Given the description of an element on the screen output the (x, y) to click on. 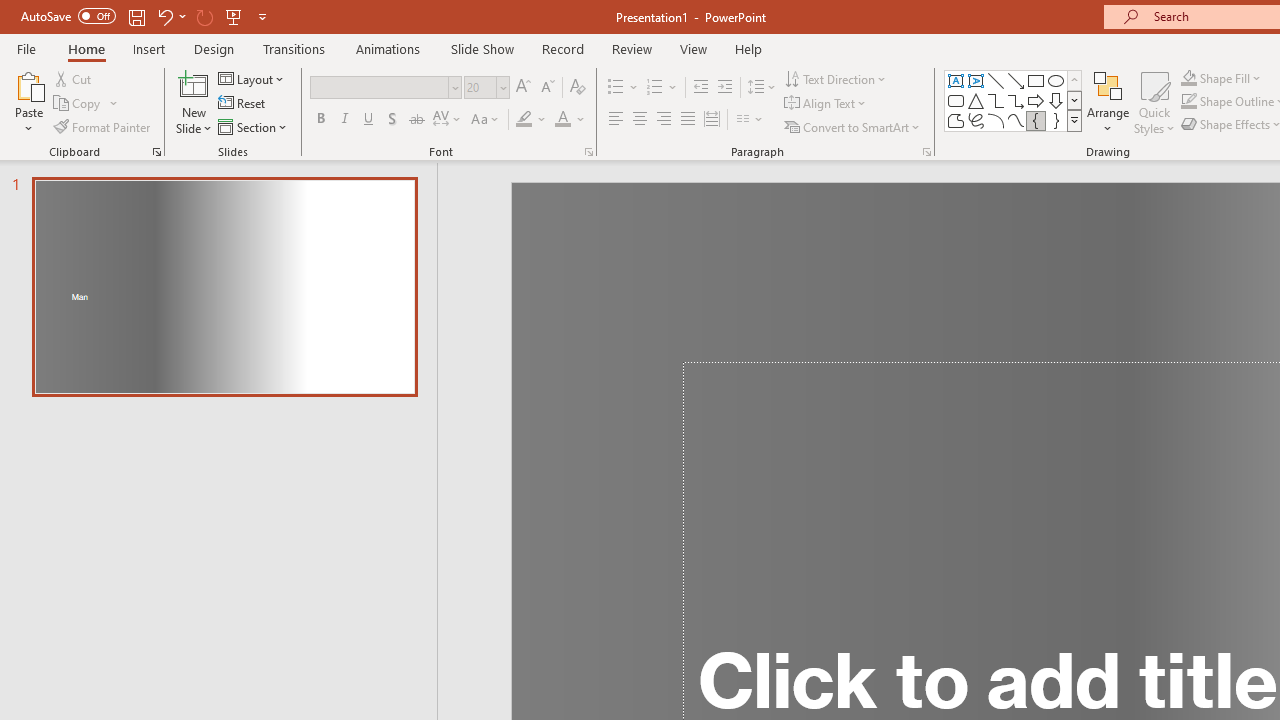
Reset (243, 103)
Character Spacing (447, 119)
Strikethrough (416, 119)
Font... (588, 151)
Change Case (486, 119)
Cut (73, 78)
Bold (320, 119)
Quick Styles (1154, 102)
